Given the description of an element on the screen output the (x, y) to click on. 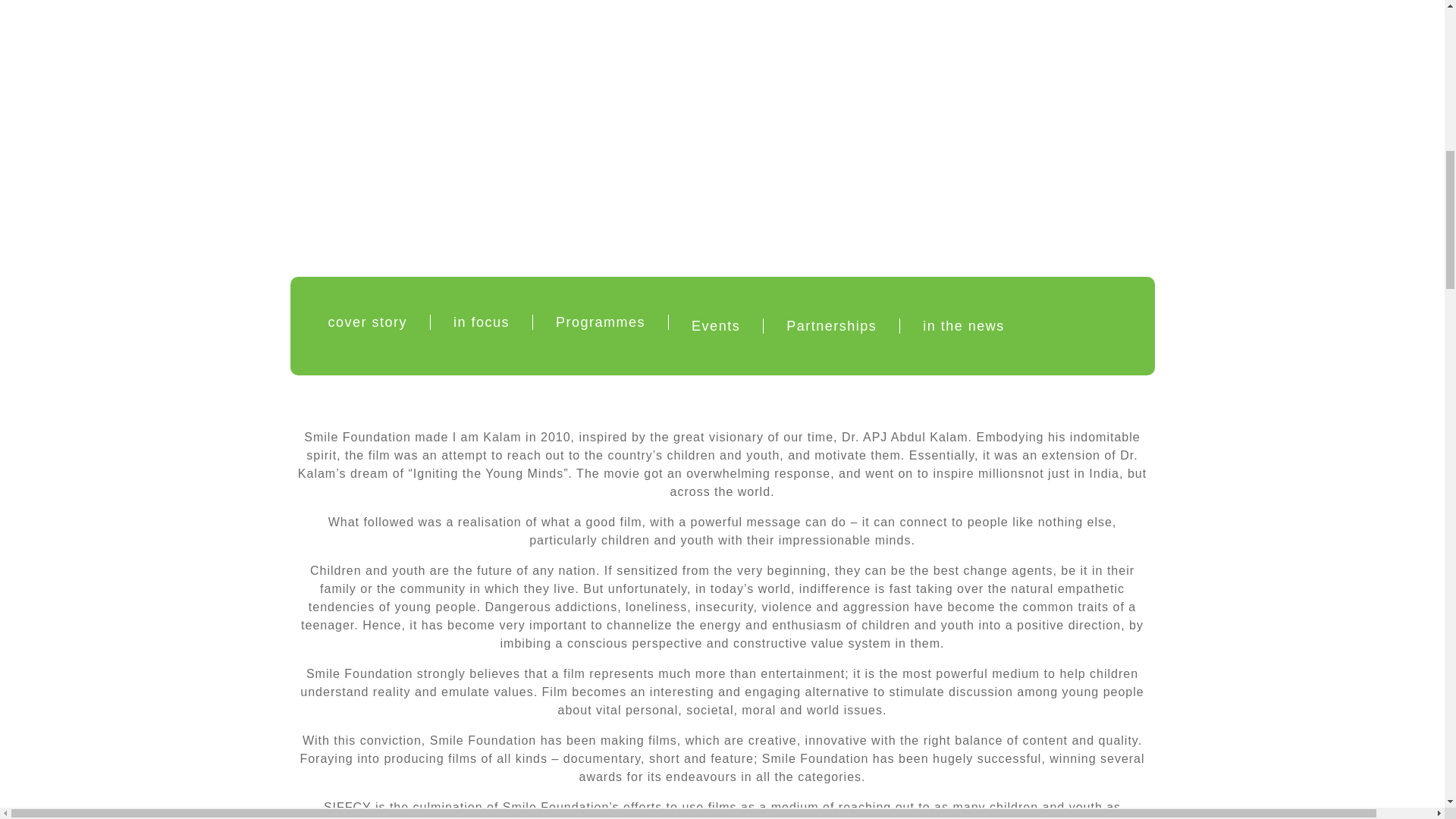
in focus (480, 322)
cover story (367, 322)
Partnerships (831, 325)
in the news (963, 325)
Events (715, 325)
Programmes (600, 322)
